Given the description of an element on the screen output the (x, y) to click on. 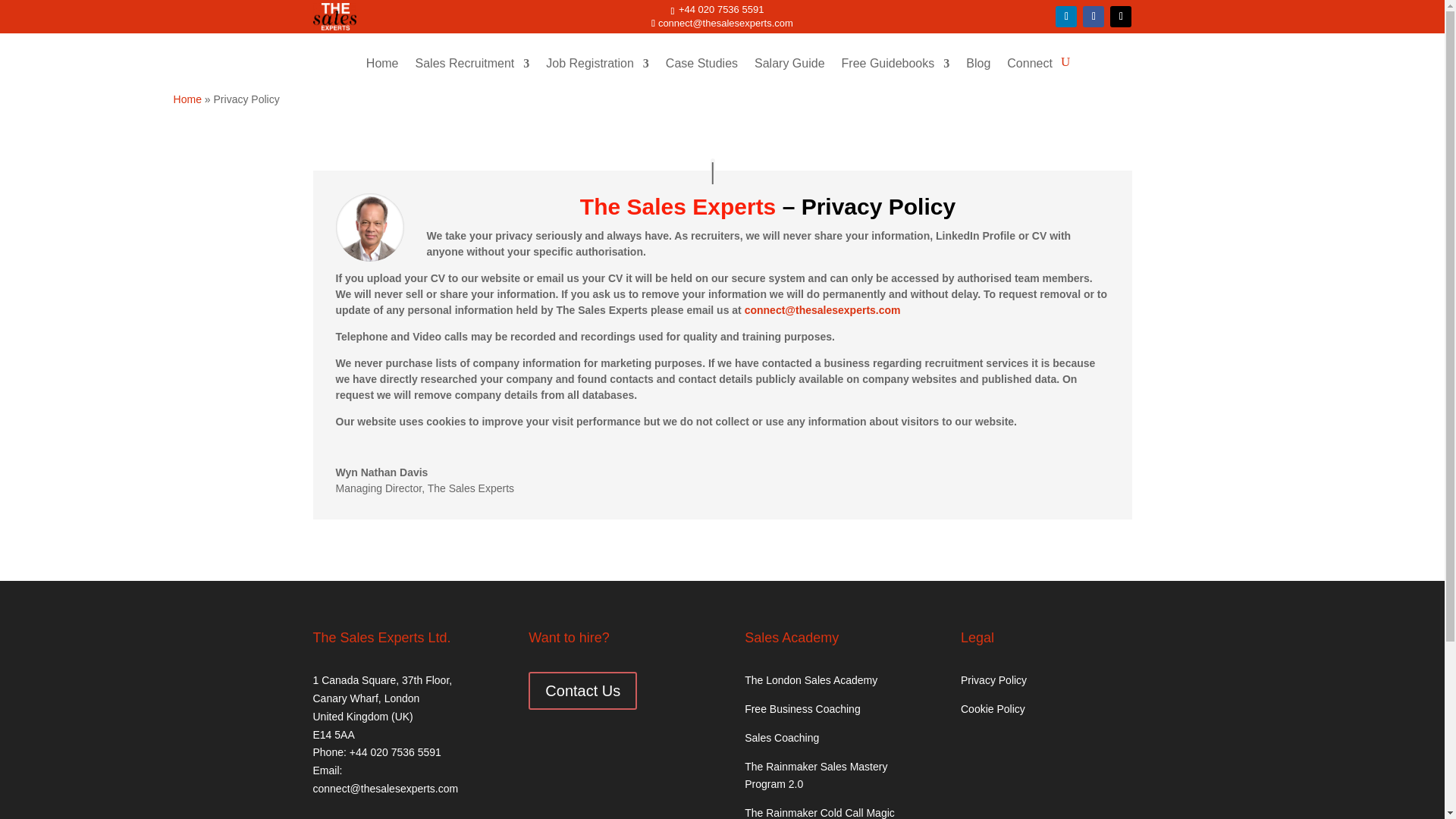
Contact Us (582, 690)
Follow on X (1120, 16)
The London Sales Academy (810, 680)
Free Guidebooks (895, 74)
Home (382, 74)
Job Registration (597, 74)
The Rainmaker Sales Mastery Program 2.0 (815, 775)
Connect (1029, 74)
Sales Recruitment Agency Website (382, 74)
logo-transparent-small (334, 16)
Free Business Coaching (802, 708)
Sales Coaching (781, 737)
Salary Guide (789, 74)
Home (187, 99)
The Rainmaker Cold Call Magic Program (819, 812)
